Given the description of an element on the screen output the (x, y) to click on. 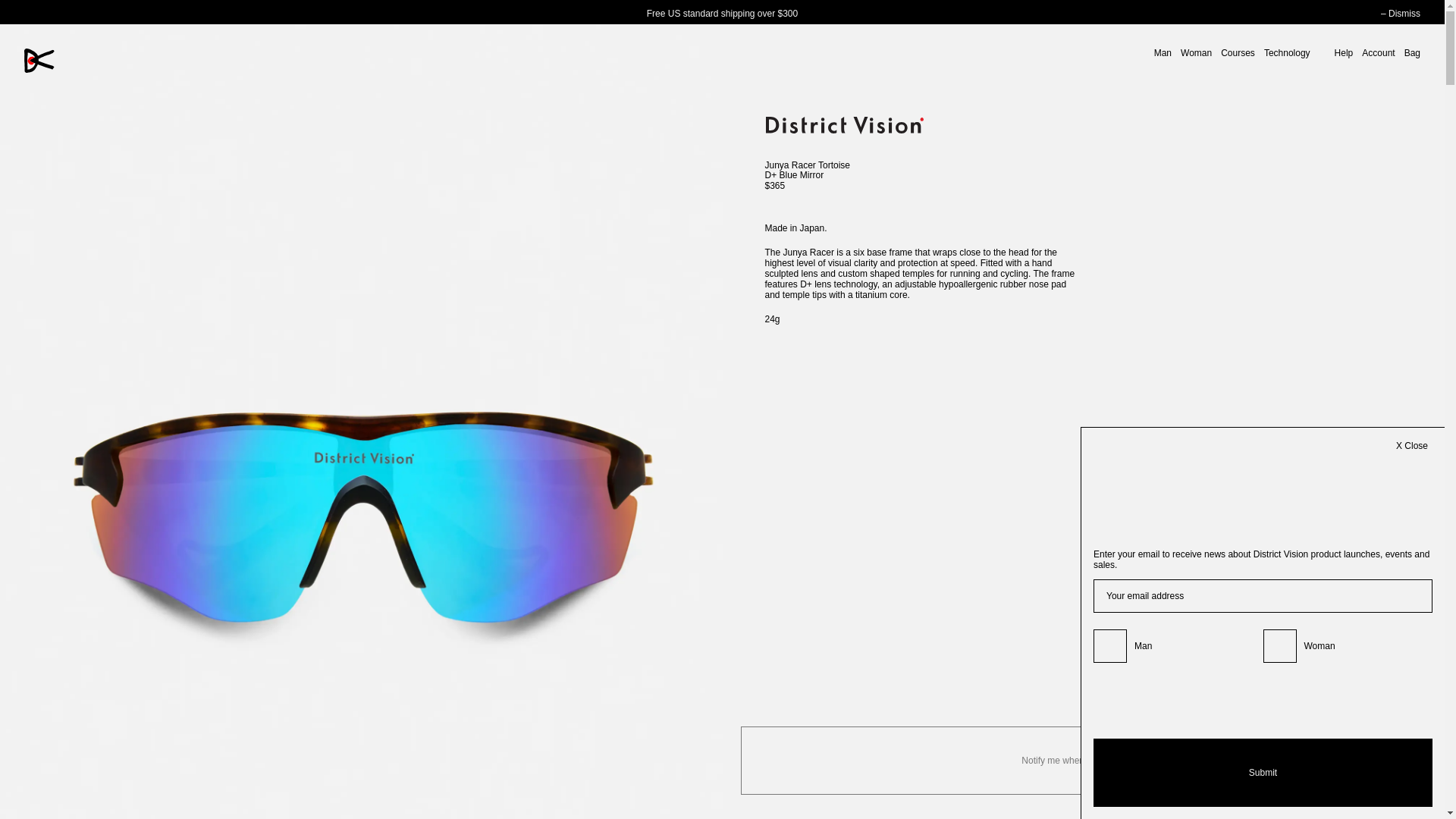
Man (1163, 51)
Courses (1237, 51)
Bag (1412, 51)
X Close (1411, 445)
Technology (1286, 51)
Help (1344, 51)
Account (1377, 51)
Notify me when back in stock (1081, 760)
Submit (1262, 772)
Woman (1195, 51)
